Given the description of an element on the screen output the (x, y) to click on. 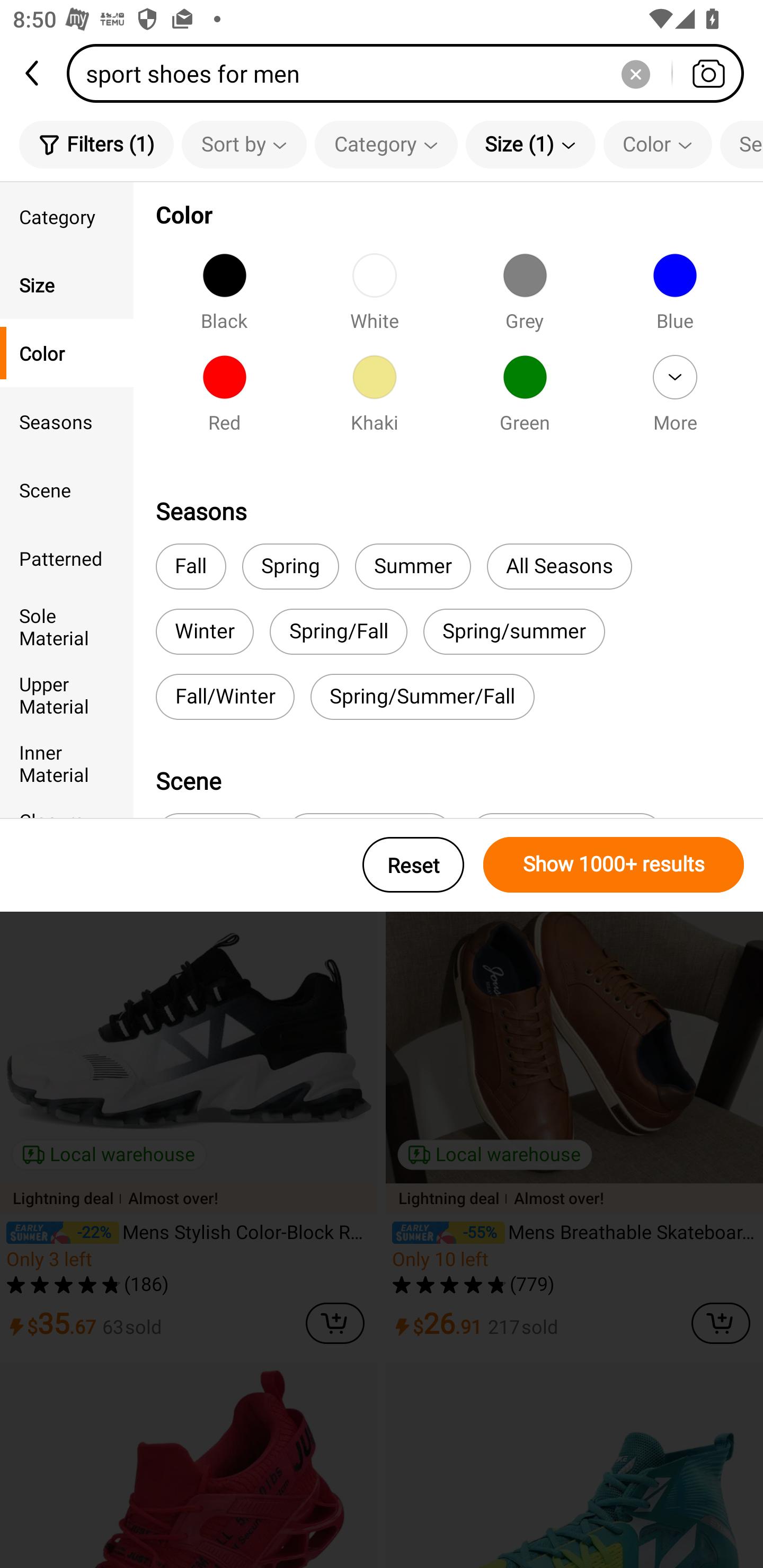
back (33, 72)
sport shoes for men (411, 73)
Delete search history (635, 73)
Search by photo (708, 73)
Filters (1) (96, 143)
Sort by (243, 143)
Category (385, 143)
Size (1) (530, 143)
Color (657, 143)
Category (66, 215)
White (374, 297)
Size (66, 284)
Color (66, 352)
Red (224, 399)
More (674, 399)
Seasons (66, 421)
Scene (66, 489)
Patterned (66, 557)
Fall (190, 566)
Spring (289, 566)
Summer (412, 566)
All Seasons (558, 566)
Sole Material (66, 626)
Winter (204, 631)
Spring/Fall (338, 631)
Spring/summer (514, 631)
Upper Material (66, 694)
Fall/Winter (224, 696)
Spring/Summer/Fall (422, 696)
Inner Material (66, 762)
Reset (412, 864)
Show 1000+ results (612, 864)
